Given the description of an element on the screen output the (x, y) to click on. 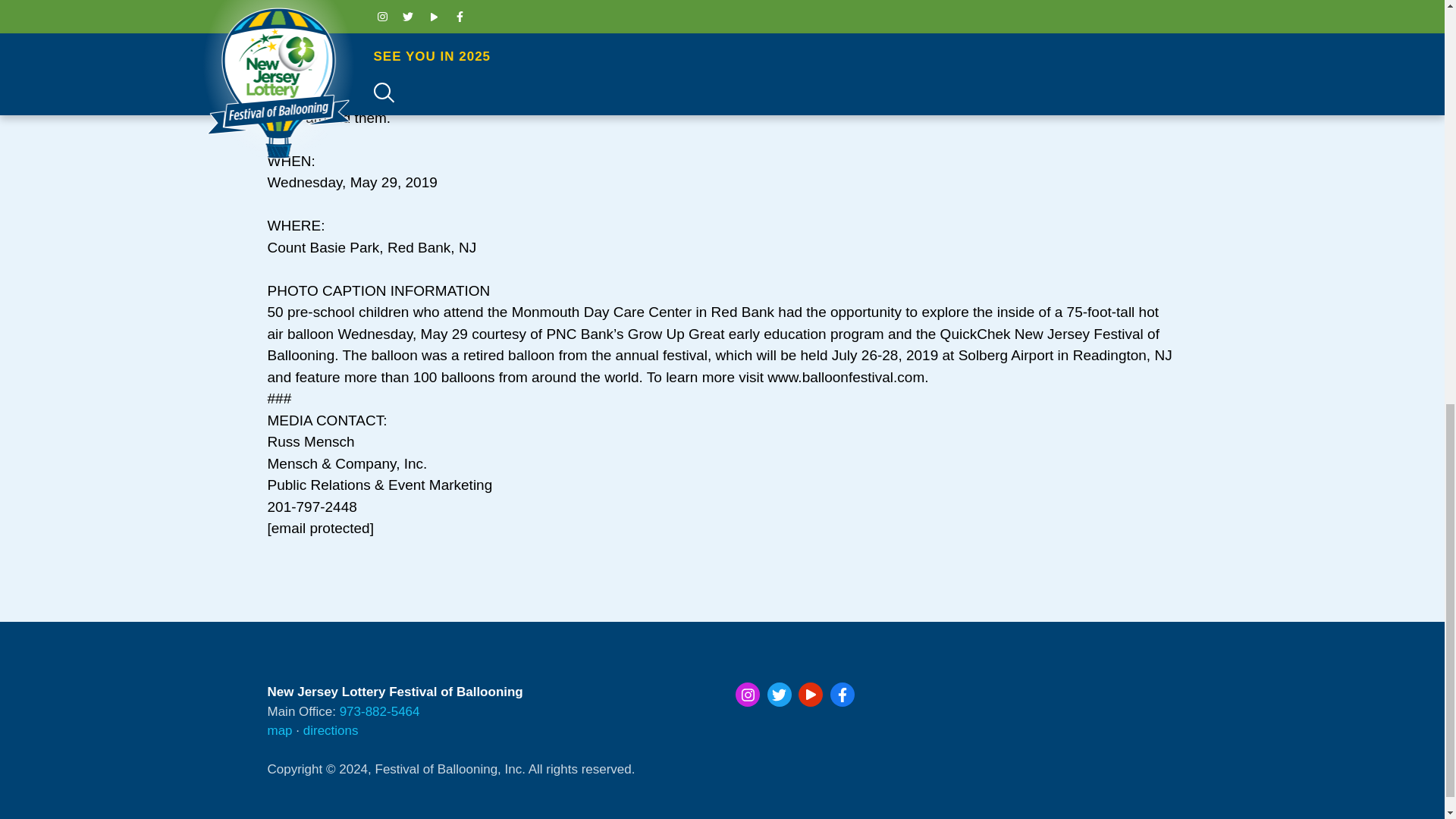
directions (330, 730)
973-882-5464 (379, 711)
map (279, 730)
